Given the description of an element on the screen output the (x, y) to click on. 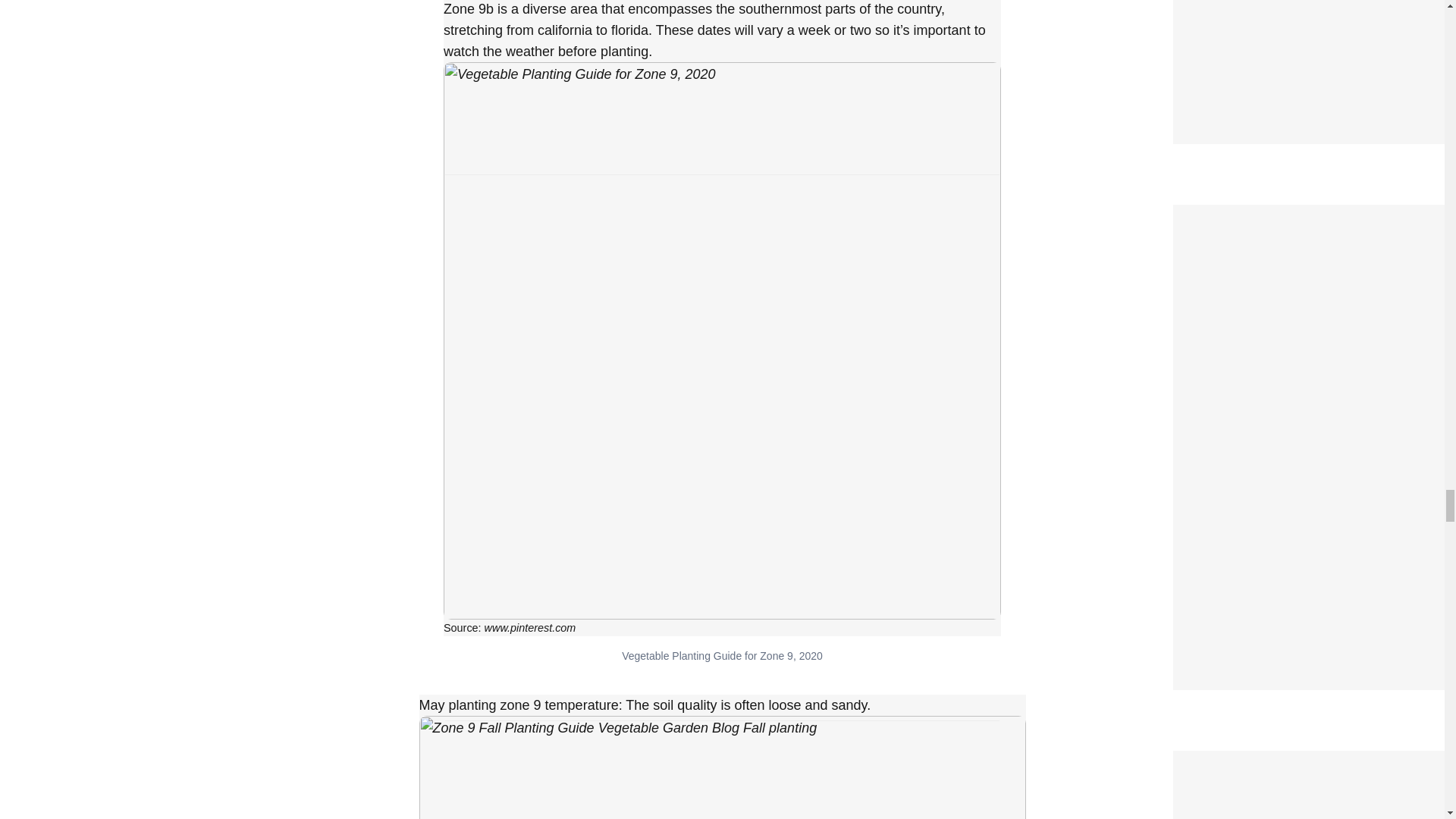
Large Wooden Garden Planters Uk (1285, 760)
Garden Stepping Stones For Sale (1281, 214)
